Given the description of an element on the screen output the (x, y) to click on. 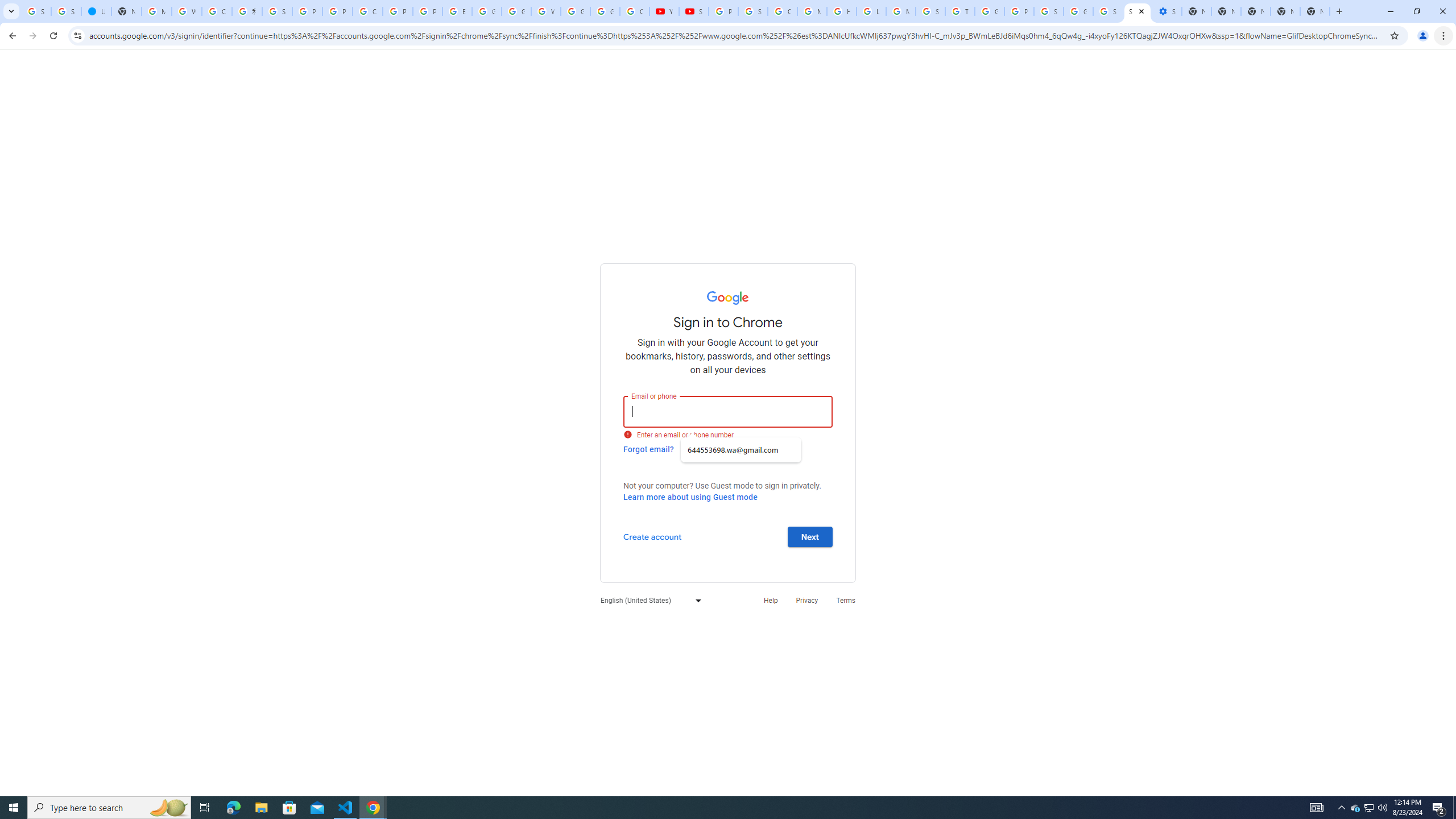
Sign in - Google Accounts (1137, 11)
Email or phone (727, 411)
644553698.wa@gmail.com (740, 449)
Welcome to My Activity (545, 11)
Google Slides: Sign-in (486, 11)
